Given the description of an element on the screen output the (x, y) to click on. 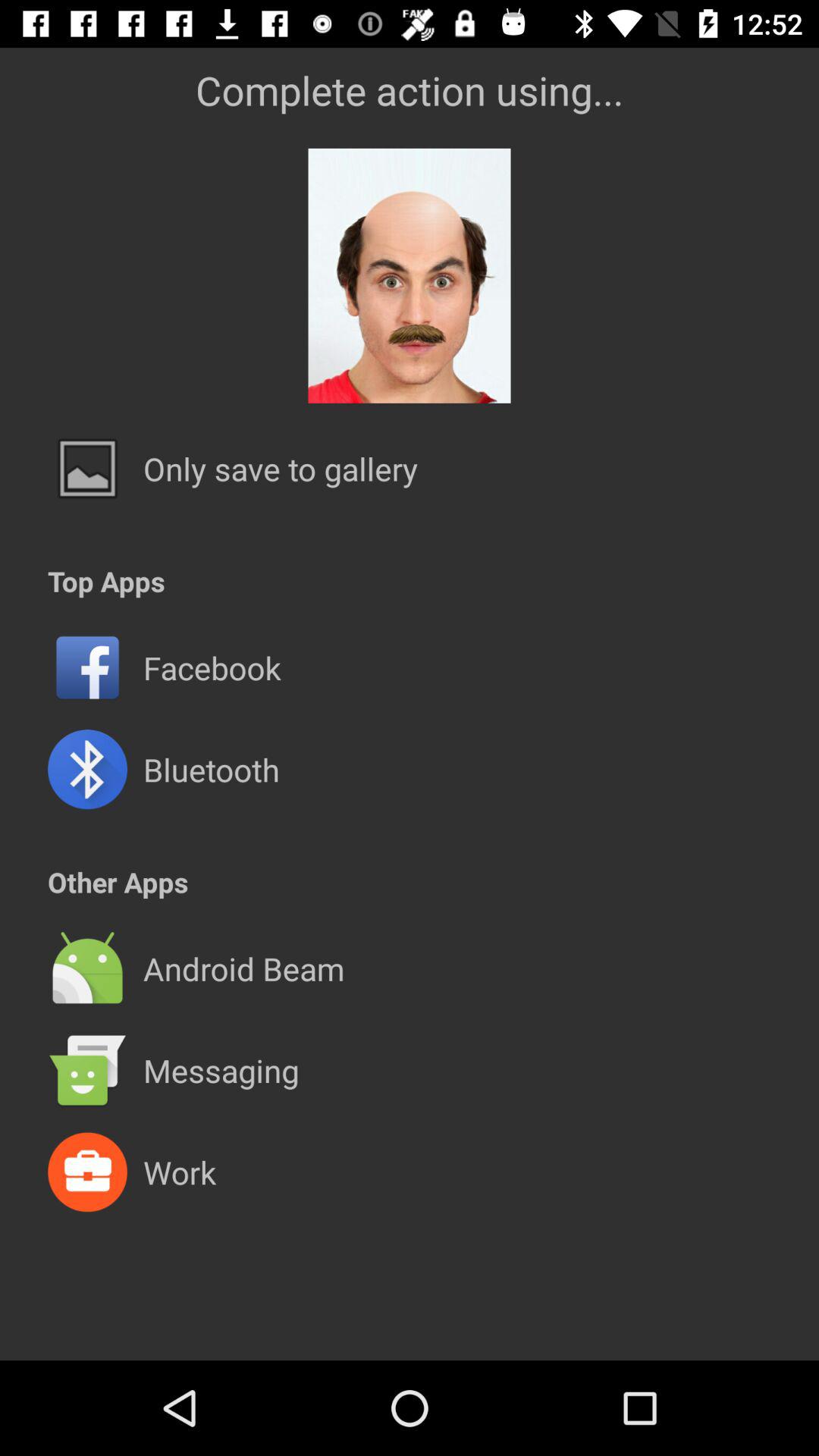
click android beam (243, 968)
